Given the description of an element on the screen output the (x, y) to click on. 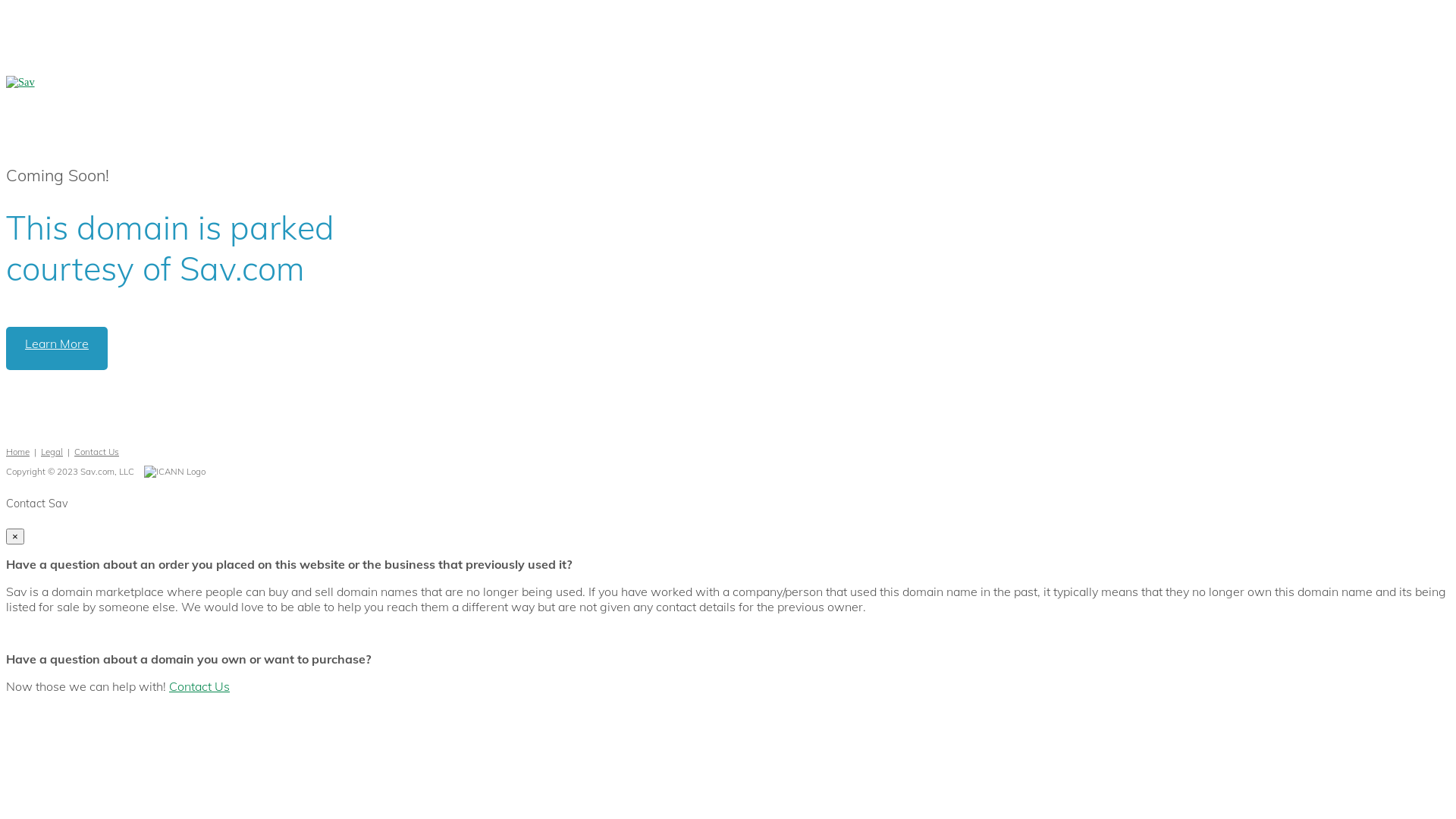
Contact Us Element type: text (96, 451)
Learn More Element type: text (56, 348)
Home Element type: text (17, 451)
Legal Element type: text (51, 451)
Contact Us Element type: text (199, 685)
